Given the description of an element on the screen output the (x, y) to click on. 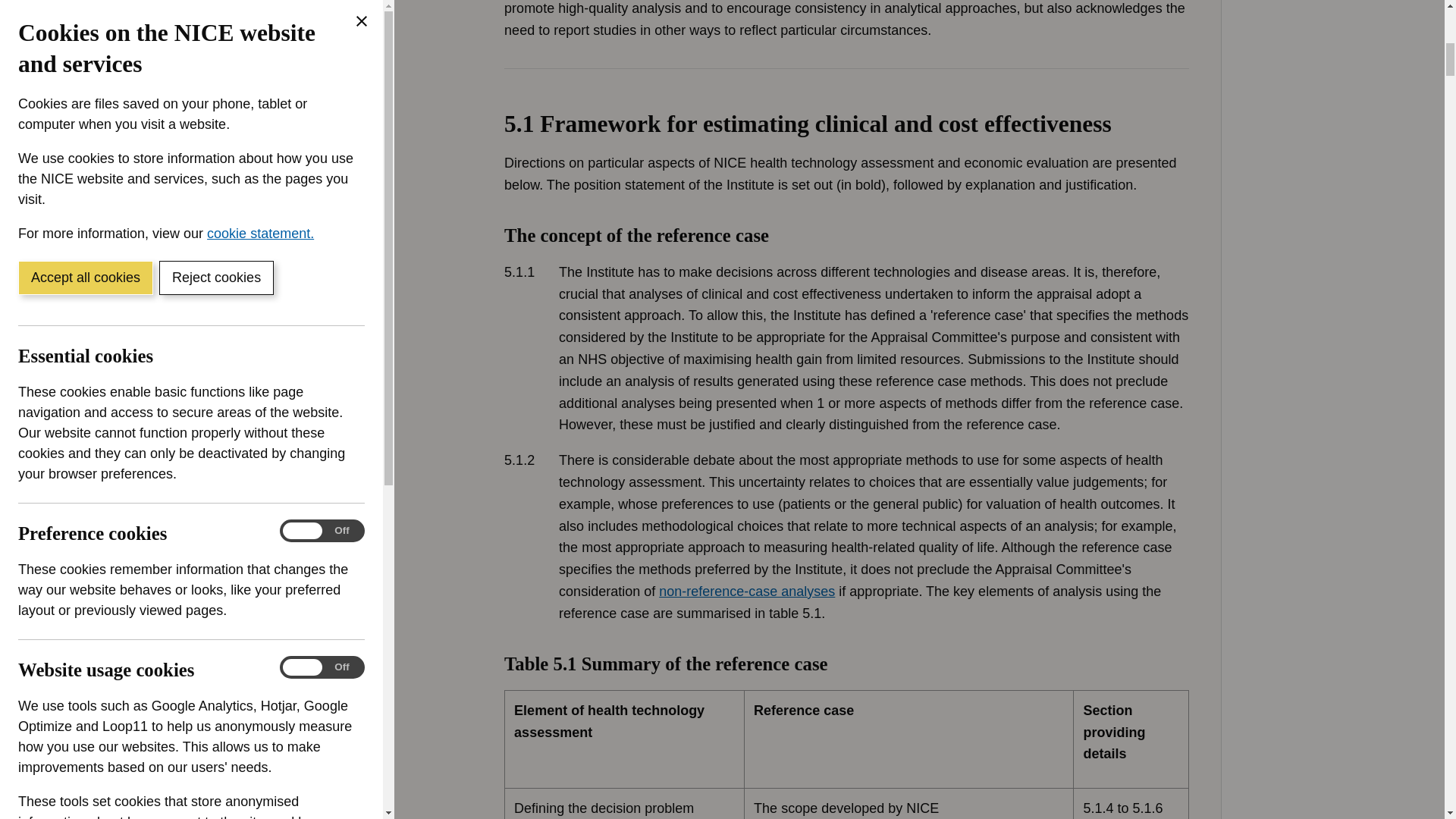
Show vendors within this category (130, 427)
Table 5.1 Summary of the reference case (845, 735)
Show vendors within this category (130, 63)
